Given the description of an element on the screen output the (x, y) to click on. 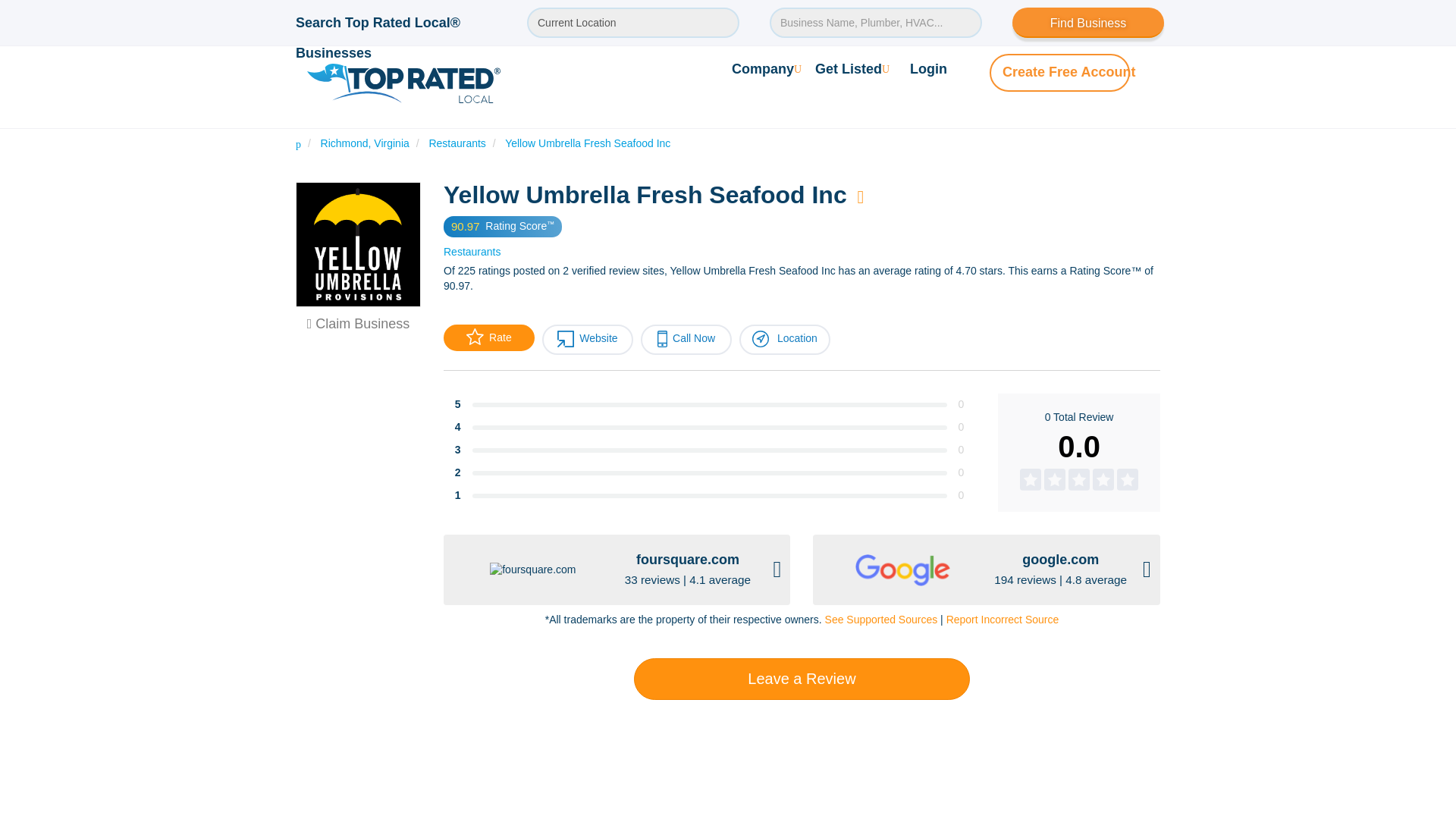
Find Business (1087, 22)
Claim Business (358, 323)
Rate (489, 337)
Get Listed (852, 68)
Login (928, 68)
Yellow Umbrella Fresh Seafood Inc (587, 143)
Restaurants (472, 251)
Richmond, Virginia (364, 143)
Restaurants (456, 143)
Create Free Account (1069, 70)
Company (767, 68)
Current Location (633, 22)
Current Location (633, 22)
